Given the description of an element on the screen output the (x, y) to click on. 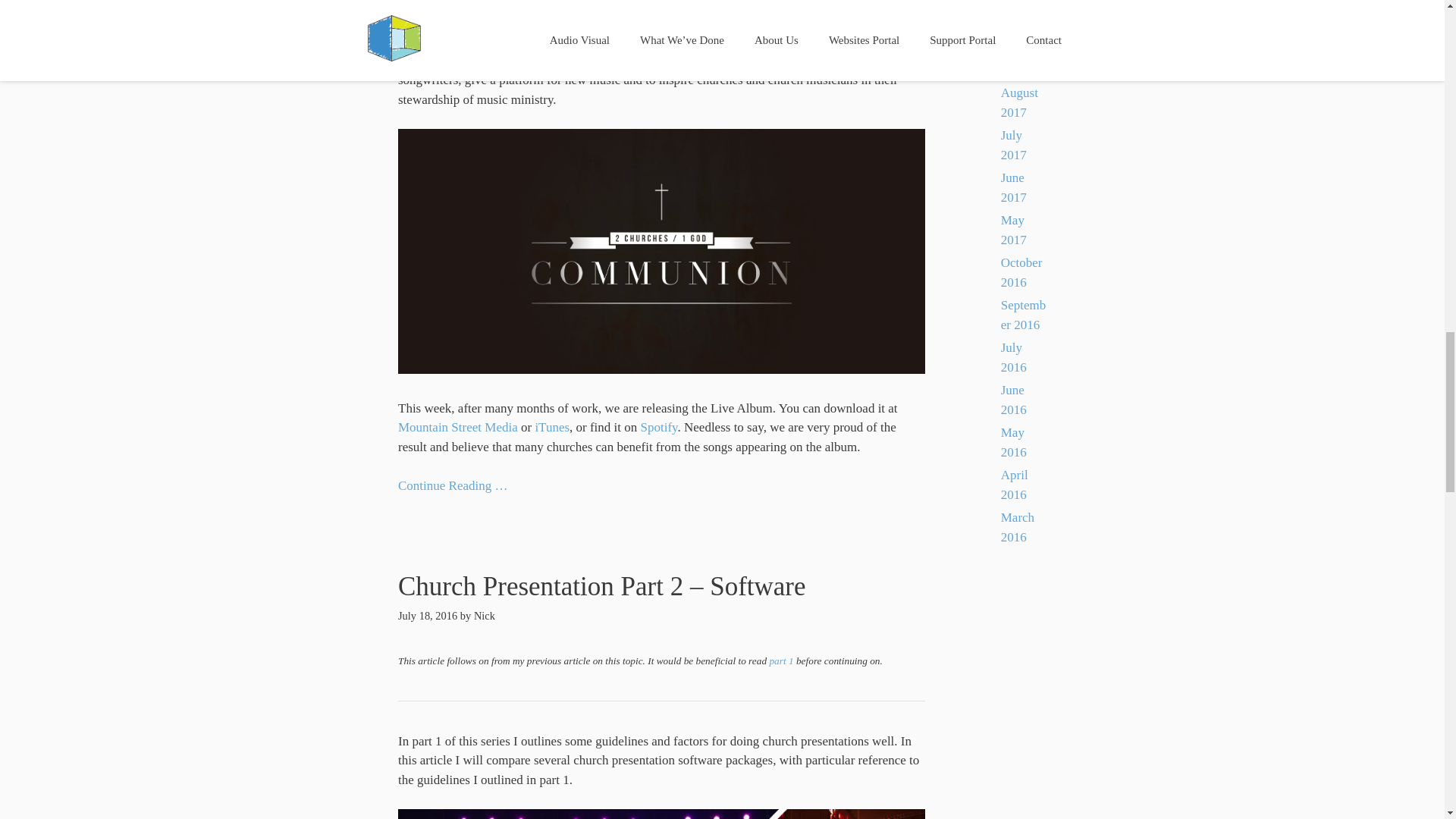
Spotify (659, 427)
Nick (484, 615)
iTunes (551, 427)
Mountain Street Media (457, 427)
View all posts by Nick (484, 615)
